Given the description of an element on the screen output the (x, y) to click on. 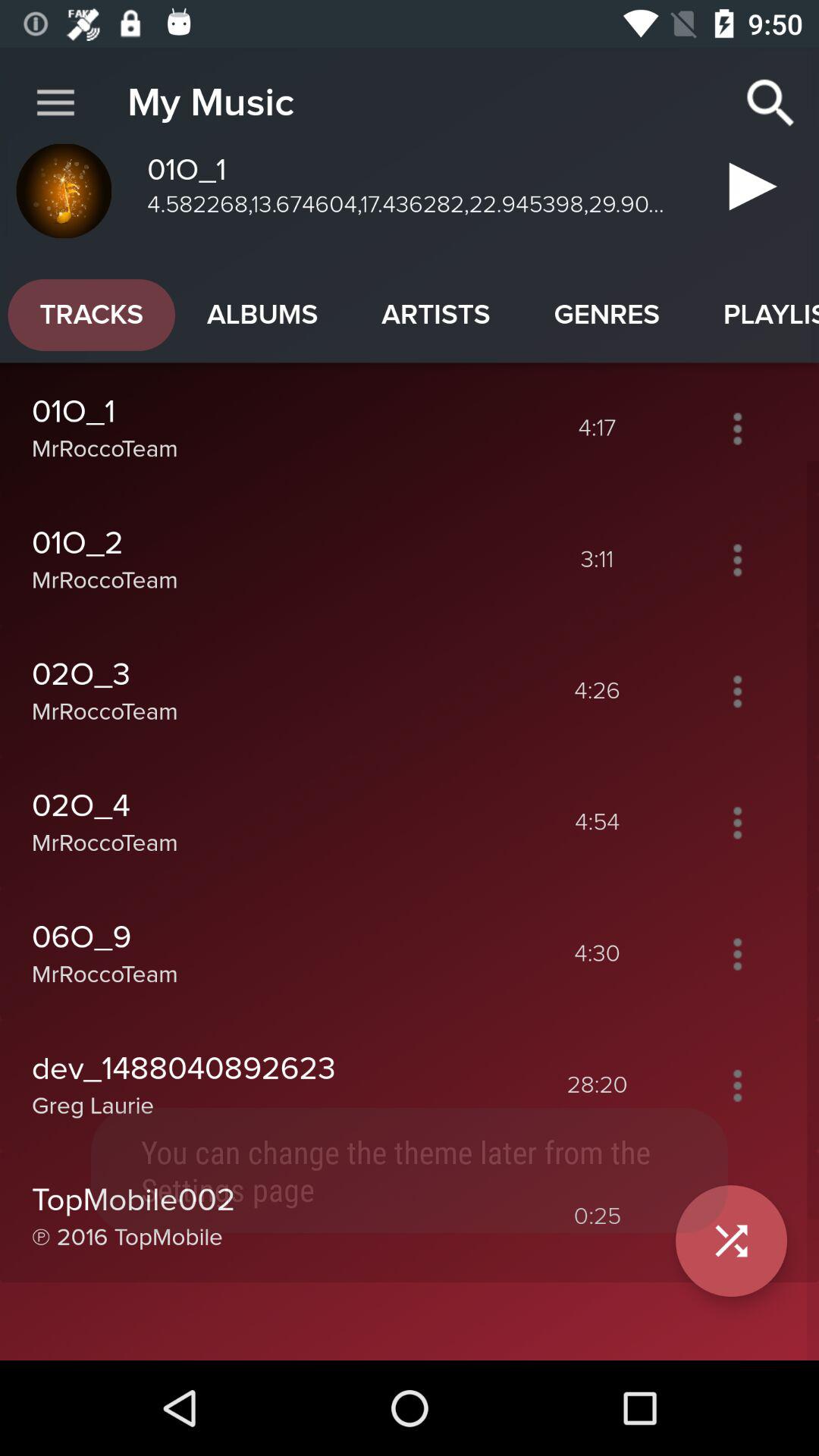
turn off icon to the left of the my music (55, 103)
